Given the description of an element on the screen output the (x, y) to click on. 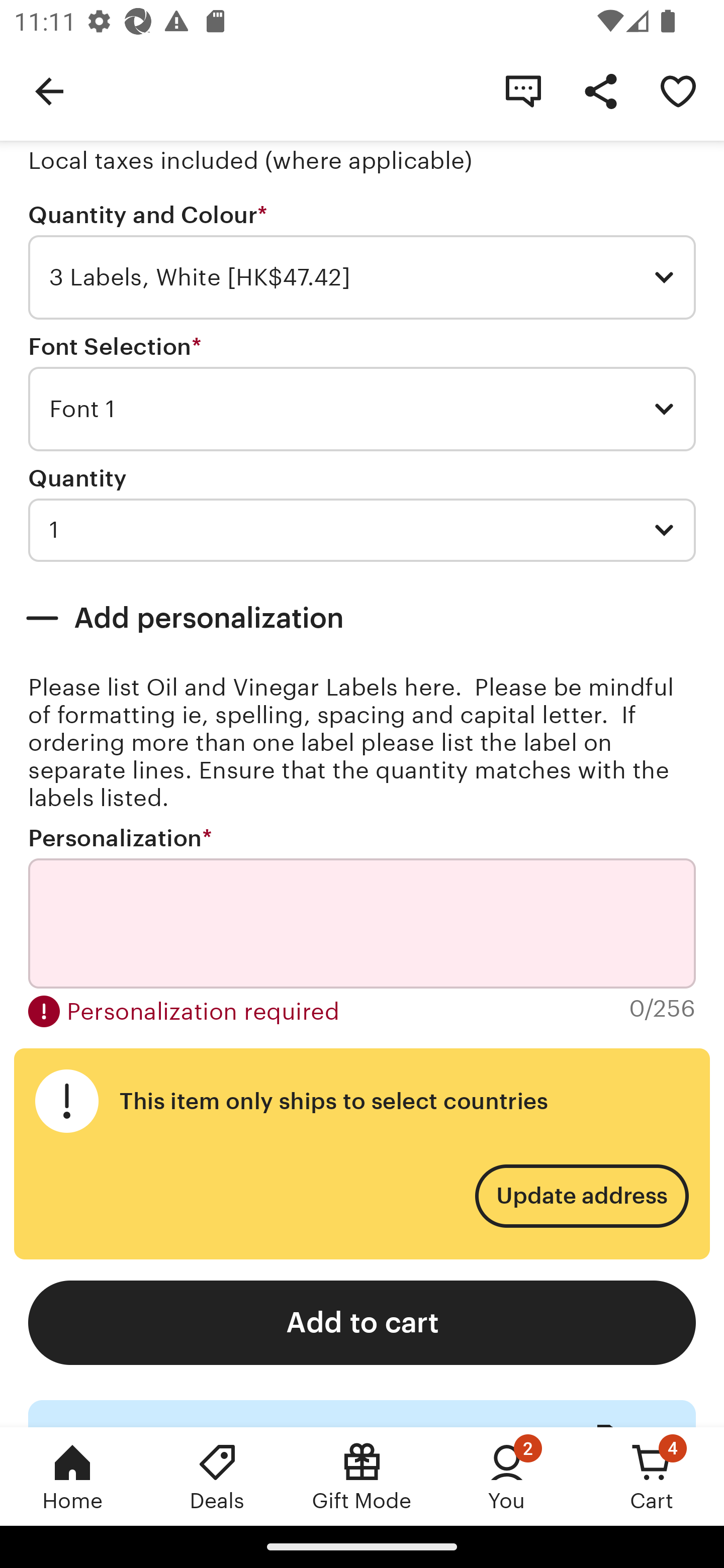
Navigate up (49, 90)
Contact shop (523, 90)
Share (600, 90)
3 Labels, White [HK$47.42] (361, 277)
Font Selection * Required Font 1 (361, 392)
Font 1 (361, 408)
Quantity (77, 477)
1 (361, 529)
Add personalization Add personalization Required (362, 617)
Update address (581, 1196)
Add to cart (361, 1323)
Deals (216, 1475)
Gift Mode (361, 1475)
You, 2 new notifications You (506, 1475)
Cart, 4 new notifications Cart (651, 1475)
